Given the description of an element on the screen output the (x, y) to click on. 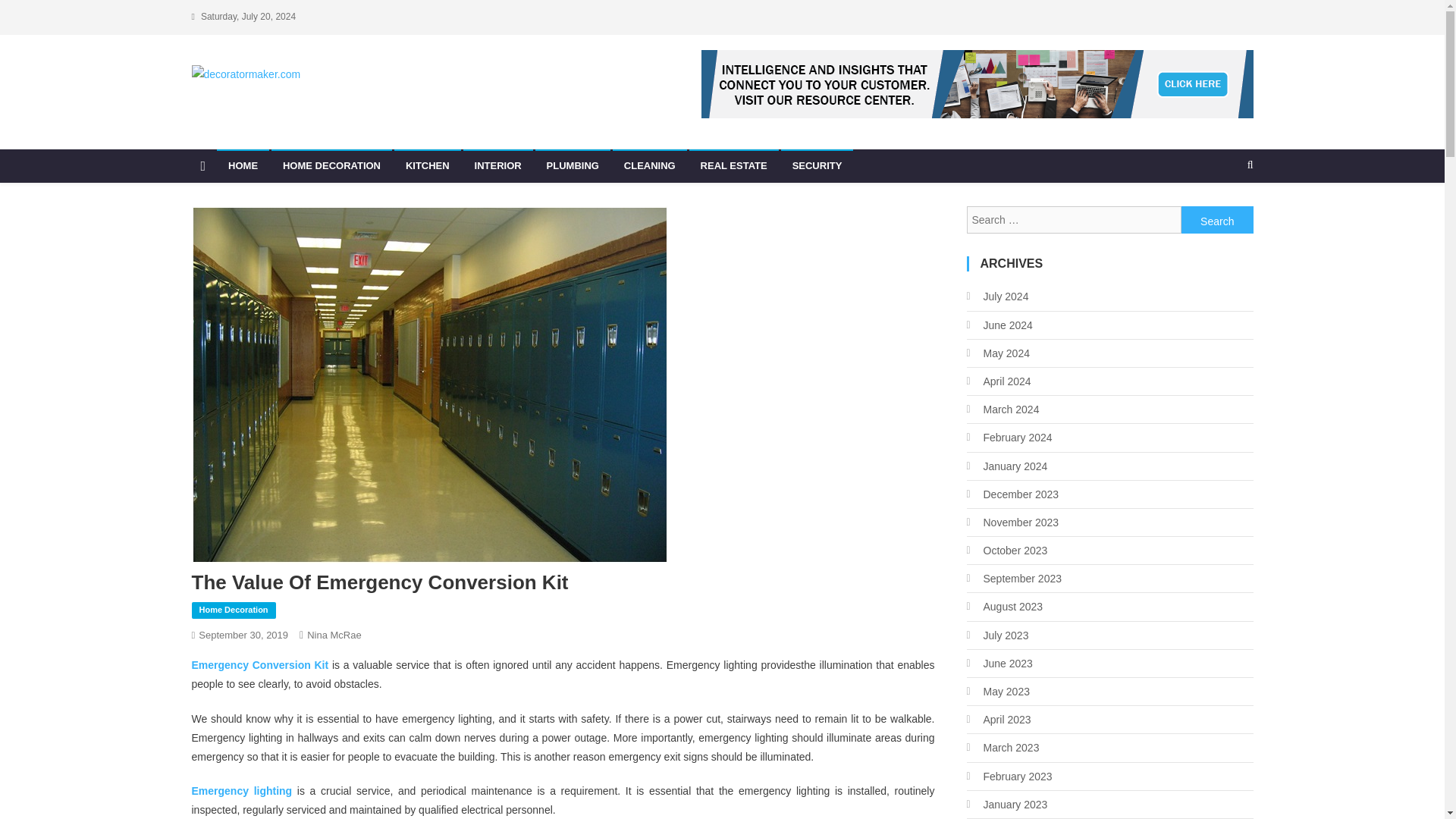
September 30, 2019 (243, 634)
Emergency Conversion Kit (259, 664)
REAL ESTATE (733, 165)
June 2024 (999, 324)
Search (1216, 219)
Search (1216, 219)
Nina McRae (334, 634)
July 2024 (996, 296)
HOME (242, 165)
Emergency lighting (241, 790)
Search (1221, 215)
Search (1216, 219)
INTERIOR (497, 165)
Home Decoration (232, 610)
HOME DECORATION (330, 165)
